Given the description of an element on the screen output the (x, y) to click on. 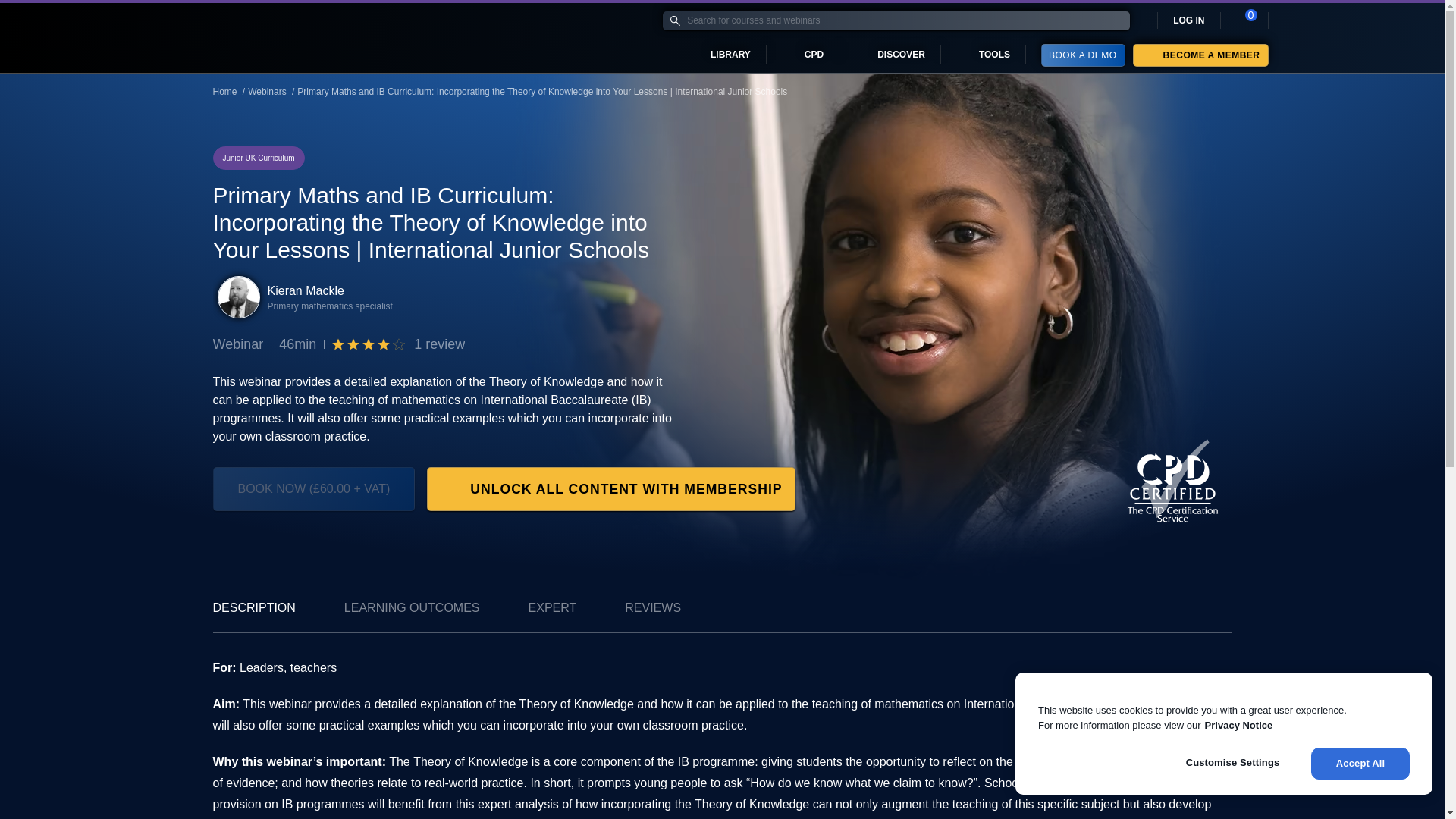
Home (197, 37)
LOG IN (1188, 20)
0 (1244, 20)
CPD (803, 54)
LIBRARY (719, 54)
DISCOVER (890, 54)
TOOLS (983, 54)
